Given the description of an element on the screen output the (x, y) to click on. 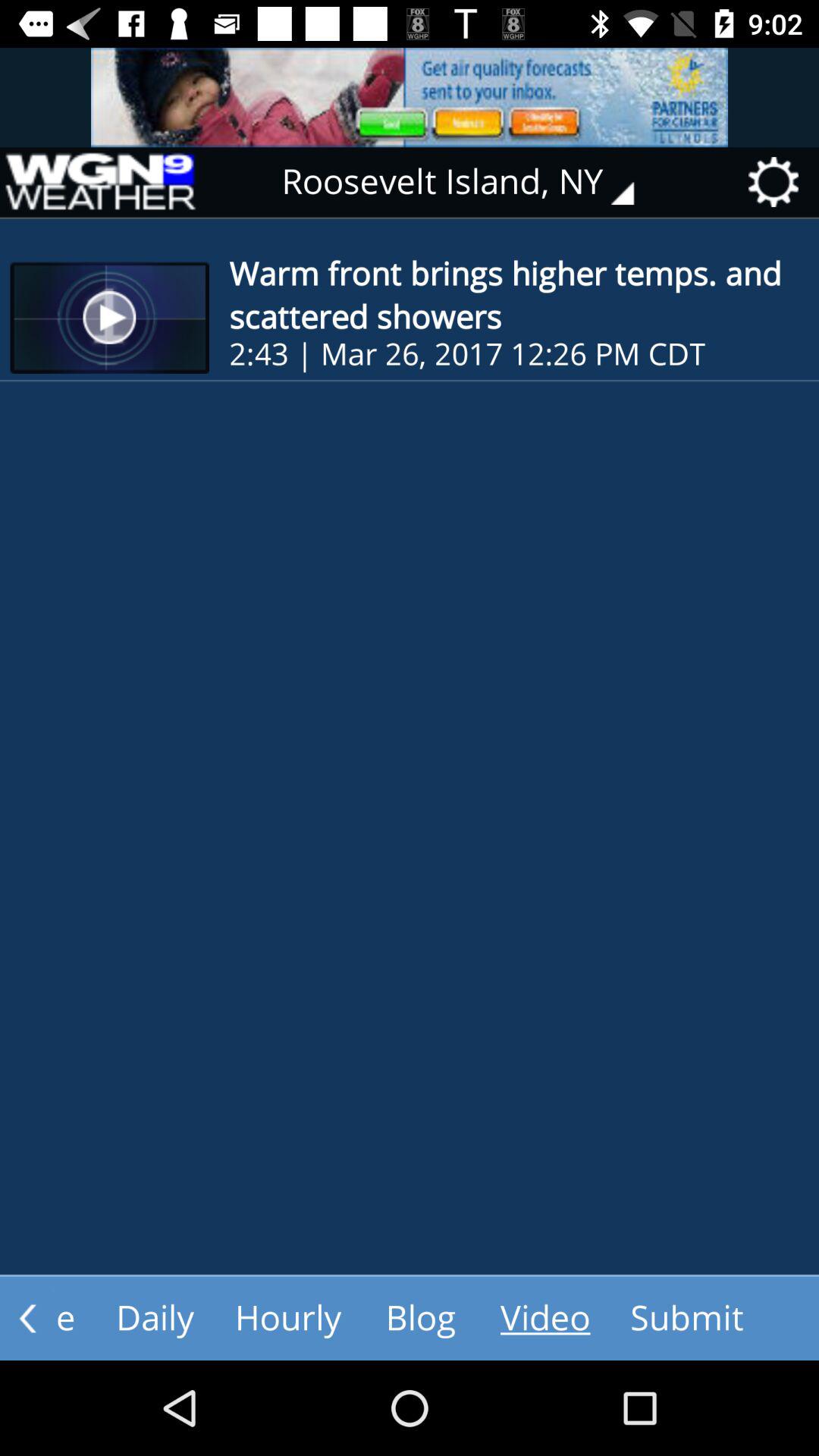
go back (27, 1318)
